Given the description of an element on the screen output the (x, y) to click on. 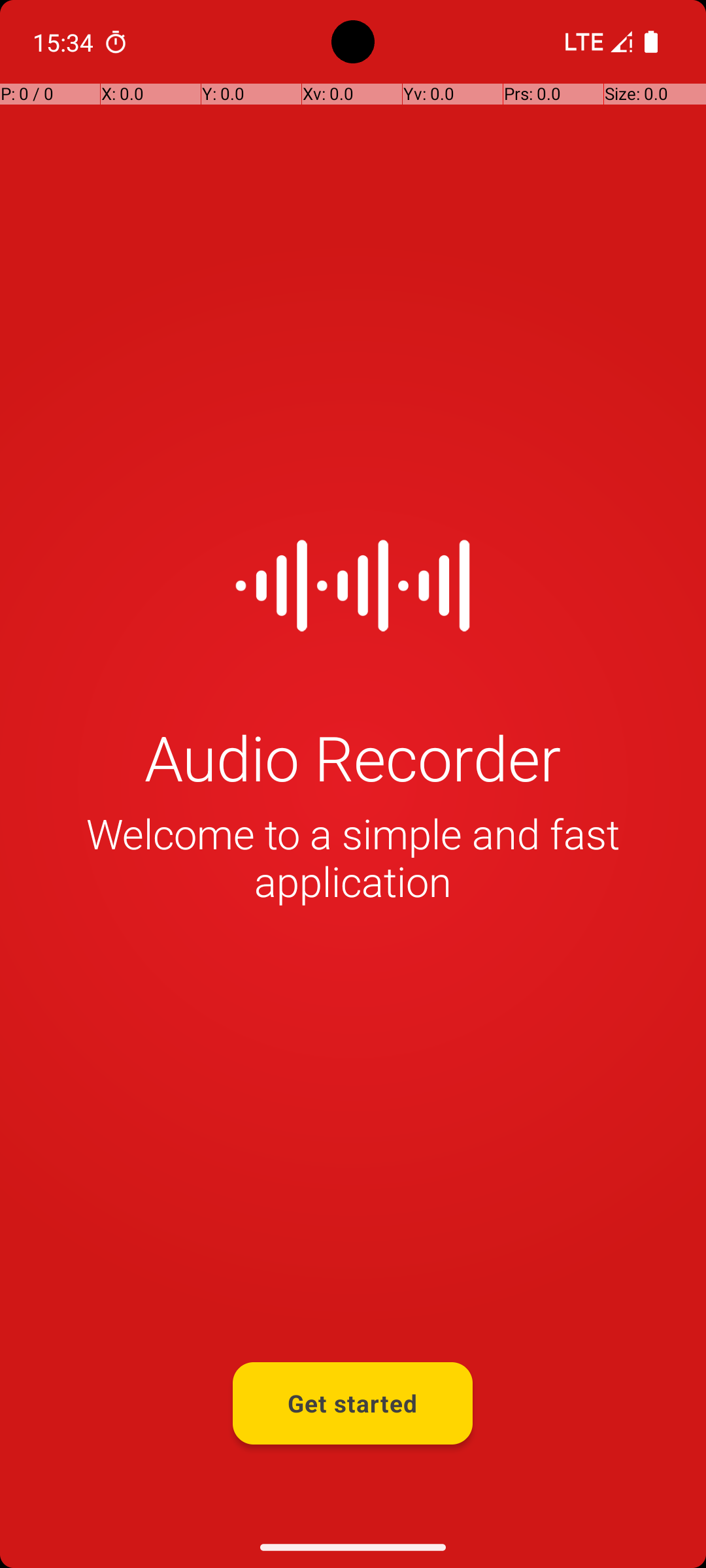
Get started Element type: android.widget.Button (352, 1403)
Audio Recorder Element type: android.widget.TextView (352, 756)
Welcome to a simple and fast application Element type: android.widget.TextView (352, 856)
Clock notification:  Element type: android.widget.ImageView (115, 41)
Phone one bar. Element type: android.widget.FrameLayout (595, 41)
